Given the description of an element on the screen output the (x, y) to click on. 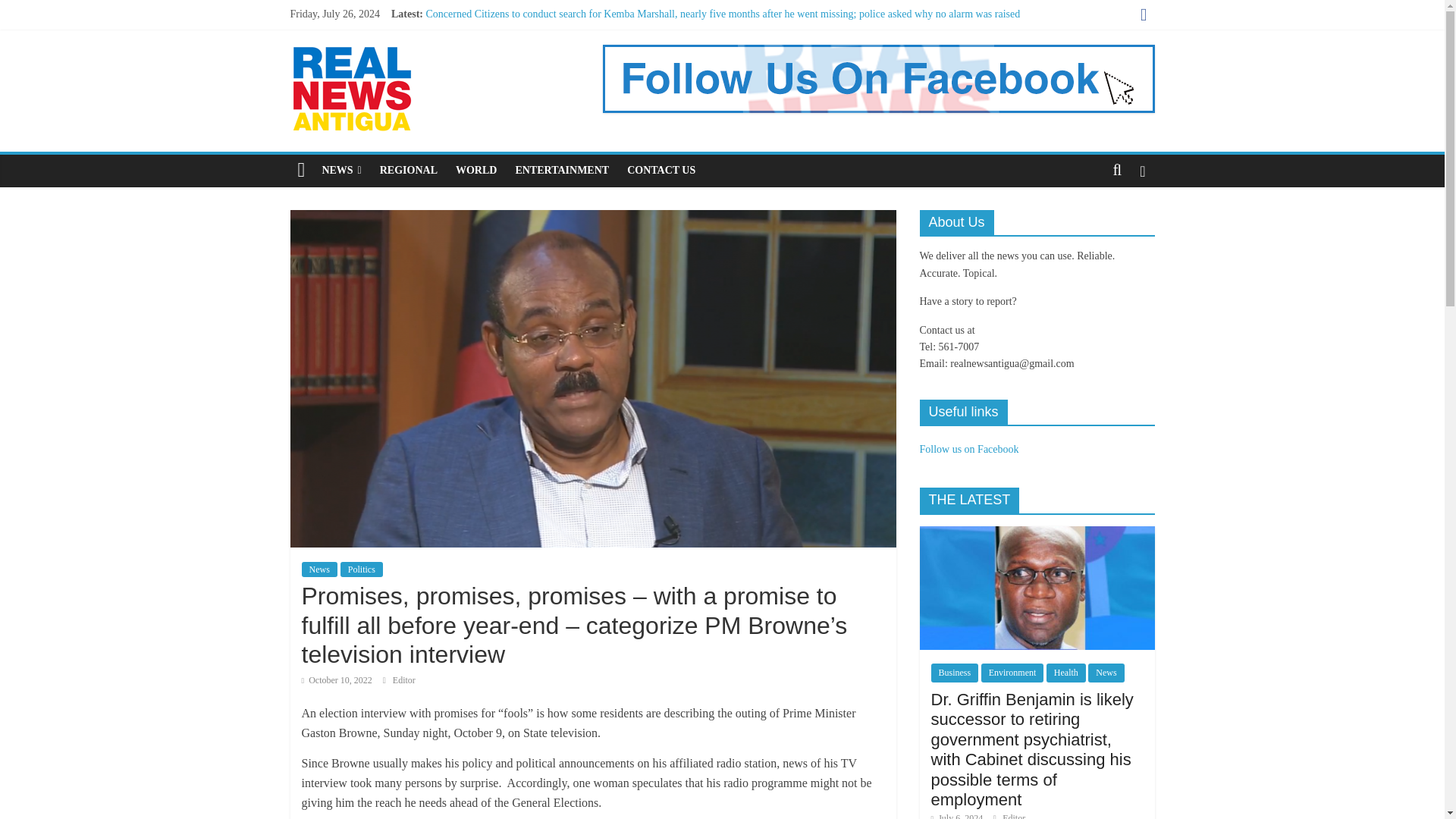
ENTERTAINMENT (561, 170)
Editor (403, 679)
5:39 pm (336, 679)
CONTACT US (660, 170)
NEWS (341, 170)
REGIONAL (408, 170)
Editor (403, 679)
News (319, 569)
Politics (361, 569)
October 10, 2022 (336, 679)
WORLD (475, 170)
